Given the description of an element on the screen output the (x, y) to click on. 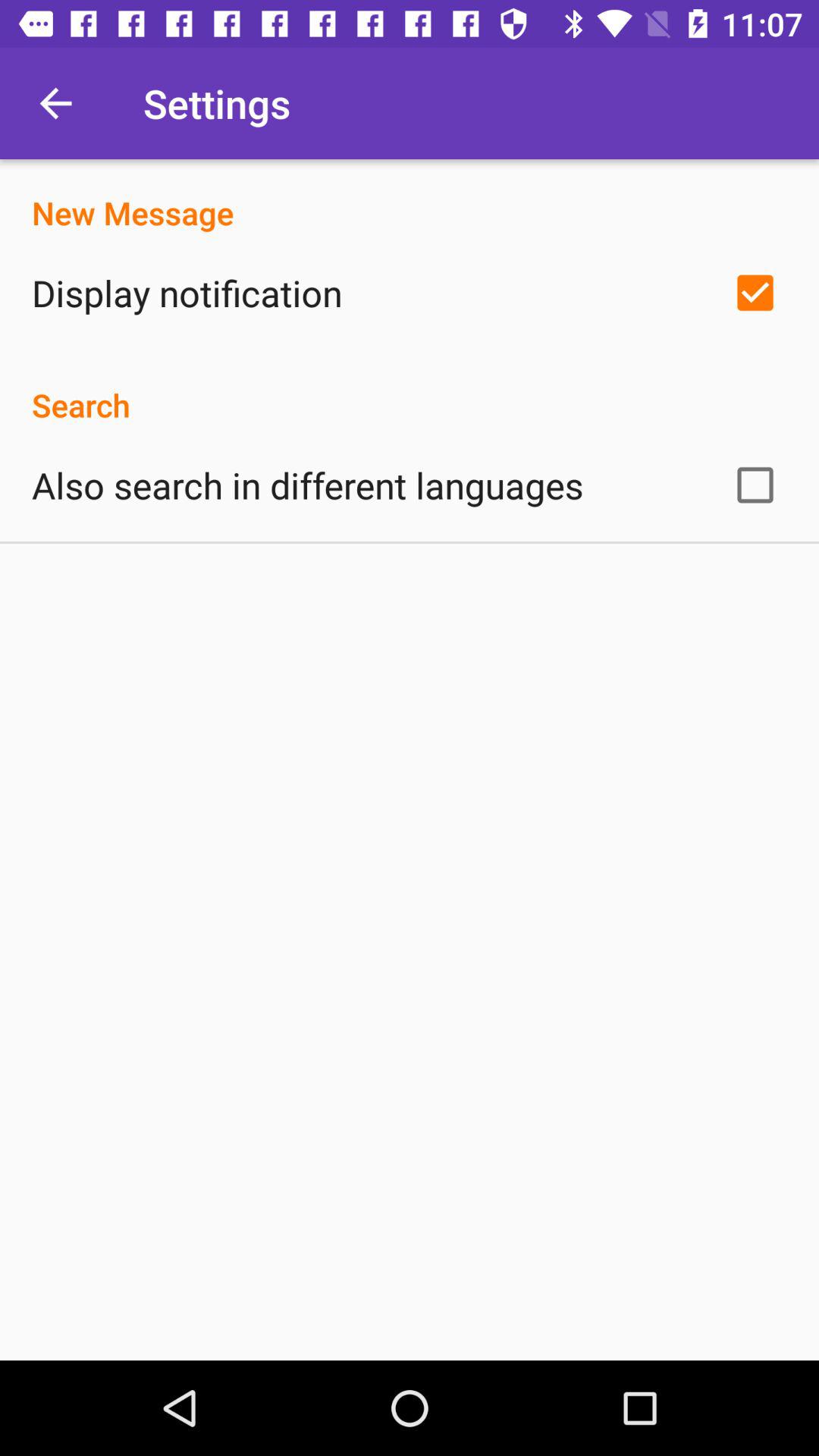
jump until the new message (409, 196)
